Given the description of an element on the screen output the (x, y) to click on. 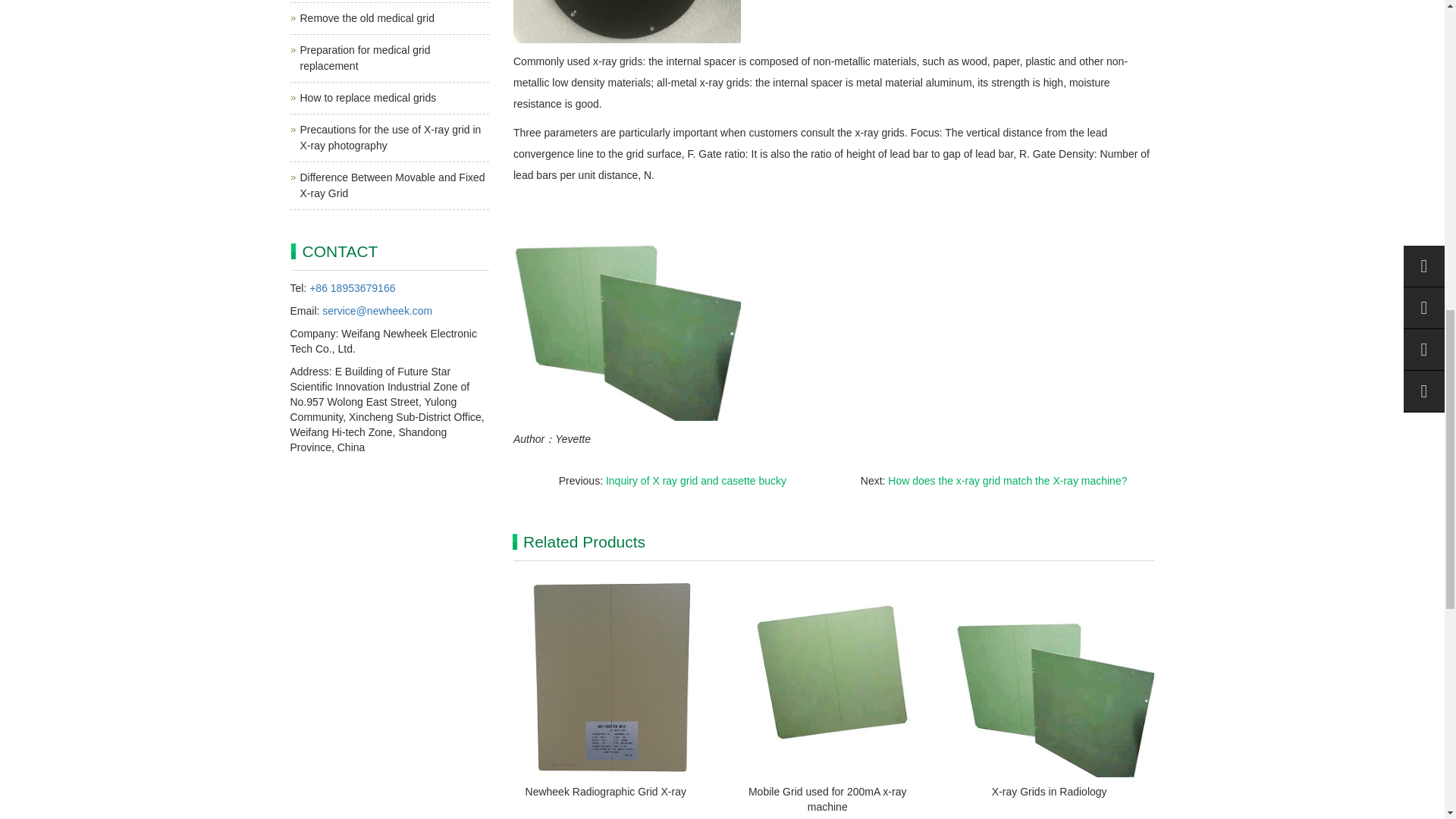
Precautions for the use of X-ray grid in X-ray photography (390, 137)
Remove the old medical grid (366, 18)
How does the x-ray grid match the X-ray machine? (1007, 480)
Preparation for medical grid replacement (364, 58)
X-ray Grids in Radiology (1048, 791)
Inquiry of X ray grid and casette bucky (695, 480)
Difference Between Movable and Fixed X-ray Grid (391, 185)
Newheek Radiographic Grid X-ray (605, 791)
Mobile Grid used for 200mA x-ray machine (827, 799)
Newheek Radiographic Grid X-ray (605, 791)
Mobile Grid used for 200mA x-ray machine (827, 799)
X-ray Grids in Radiology (1048, 791)
How to replace medical grids (367, 97)
